Given the description of an element on the screen output the (x, y) to click on. 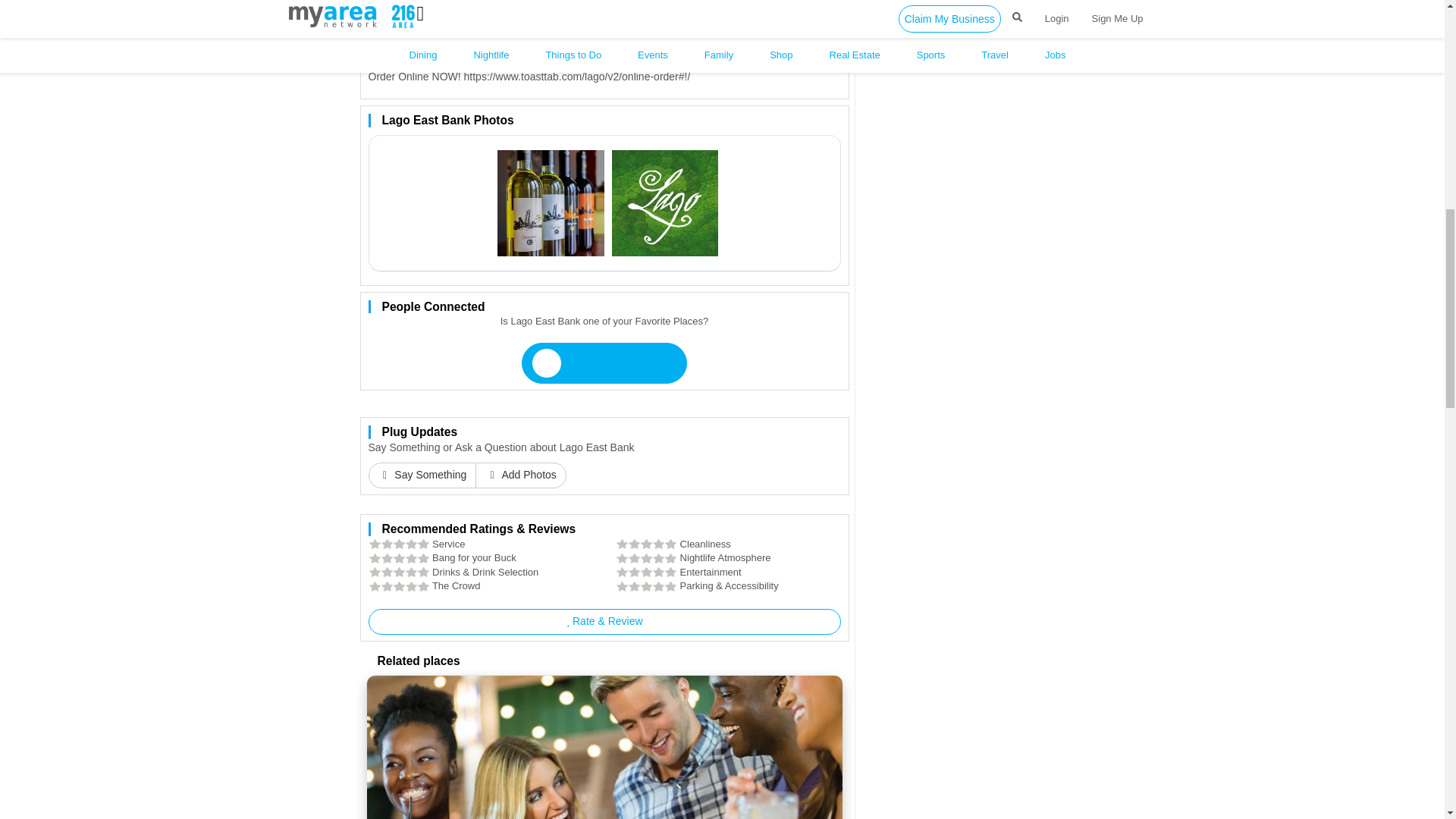
Add Photos (521, 475)
Add to My Connections (604, 363)
Say Something (422, 475)
